Given the description of an element on the screen output the (x, y) to click on. 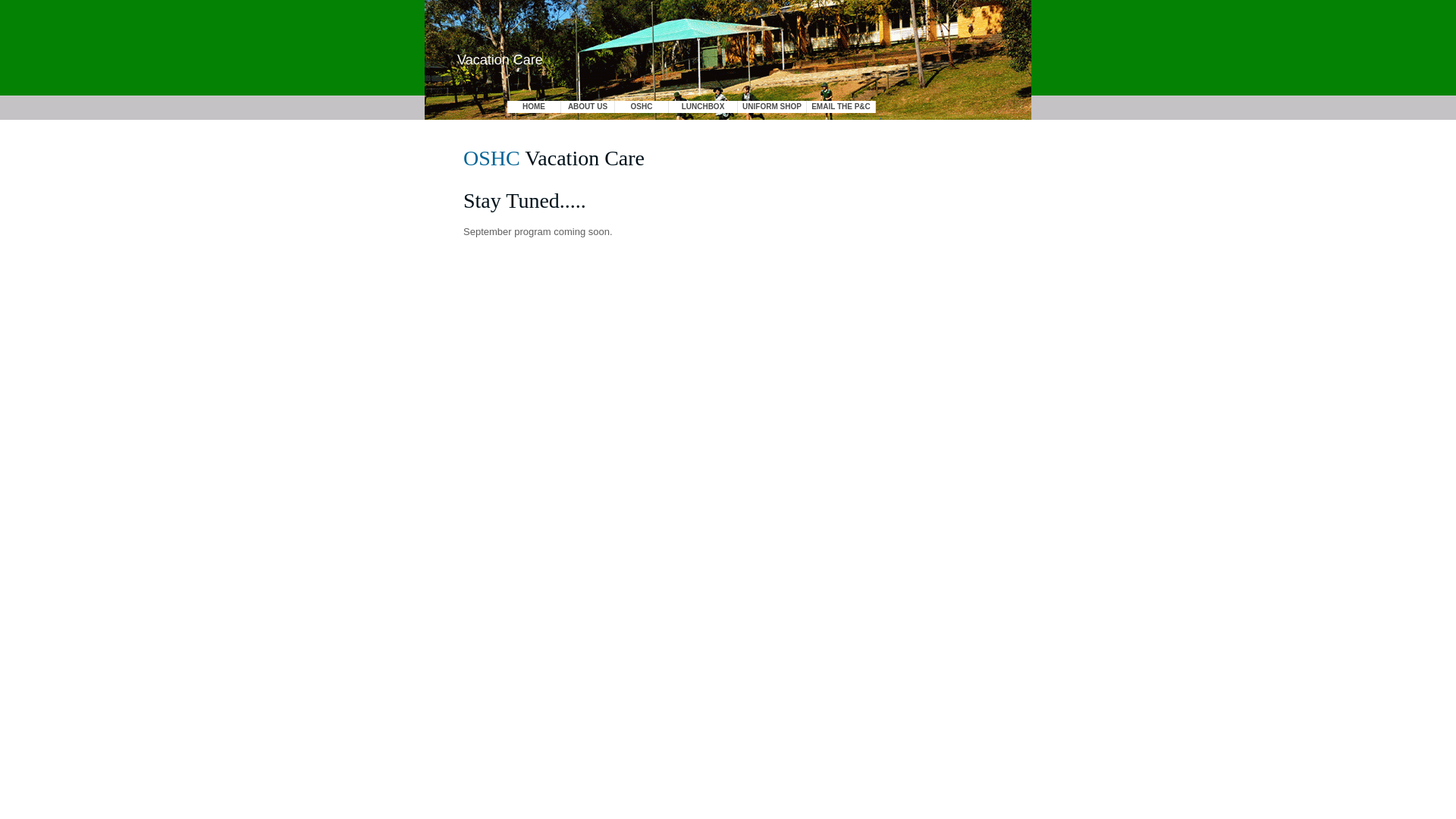
ABOUT US Element type: text (587, 106)
UNIFORM SHOP Element type: text (771, 106)
EMAIL THE P&C Element type: text (840, 106)
HOME Element type: text (533, 106)
OSHC Element type: text (641, 106)
LUNCHBOX Element type: text (702, 106)
